Given the description of an element on the screen output the (x, y) to click on. 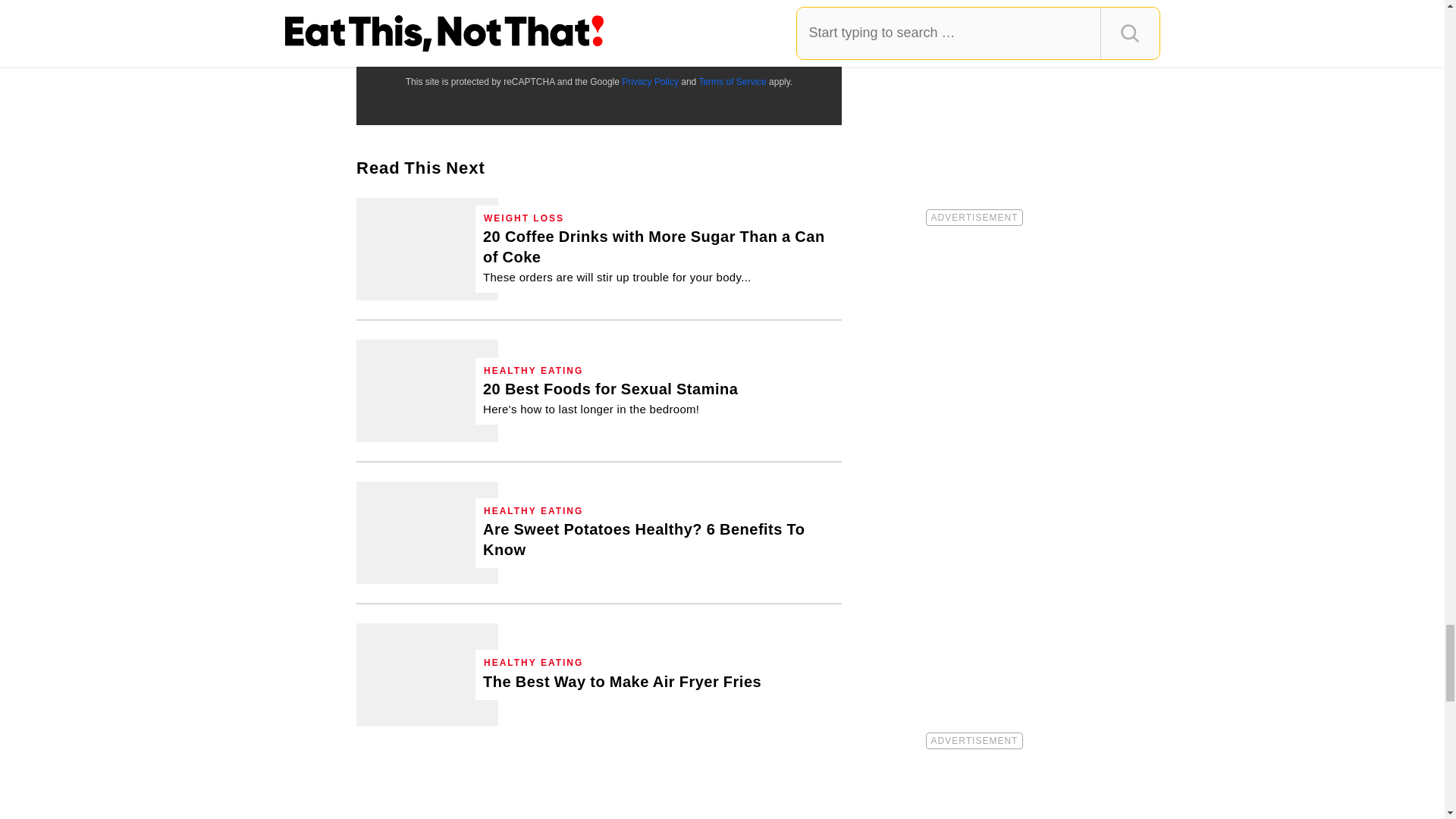
20 Foods That Increase Your Sexual Stamina and Sex Drive (610, 397)
20 Foods That Increase Your Sexual Stamina and Sex Drive (426, 390)
Are Sweet Potatoes Healthy? 6 Benefits To Know (426, 532)
20 Coffee Drinks with More Sugar Than a Can of Coke (658, 255)
The Best Way to Make Air Fryer Fries (426, 674)
20 Coffee Drinks with More Sugar Than a Can of Coke (426, 249)
Are Sweet Potatoes Healthy? 6 Benefits To Know (658, 539)
